Given the description of an element on the screen output the (x, y) to click on. 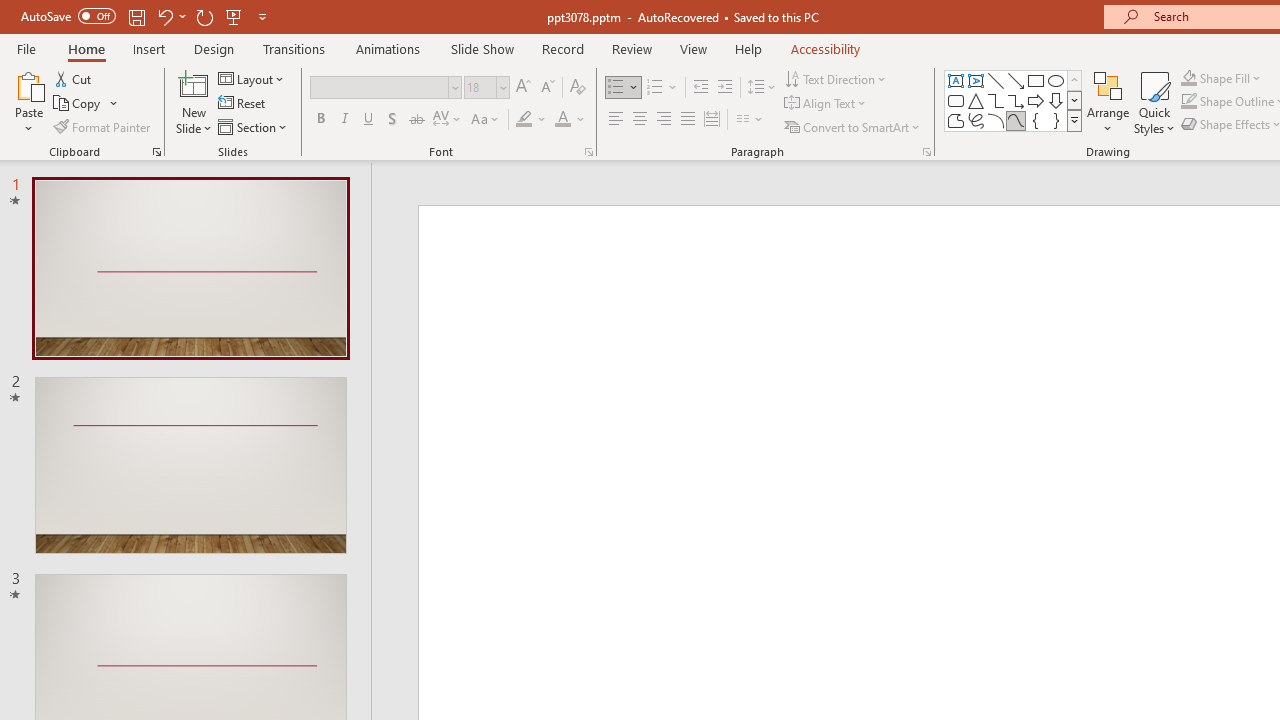
Decrease Font Size (547, 87)
Strikethrough (416, 119)
Convert to SmartArt (853, 126)
Align Right (663, 119)
Shapes (1074, 120)
Arrange (1108, 102)
Freeform: Scribble (975, 120)
Connector: Elbow Arrow (1016, 100)
